Given the description of an element on the screen output the (x, y) to click on. 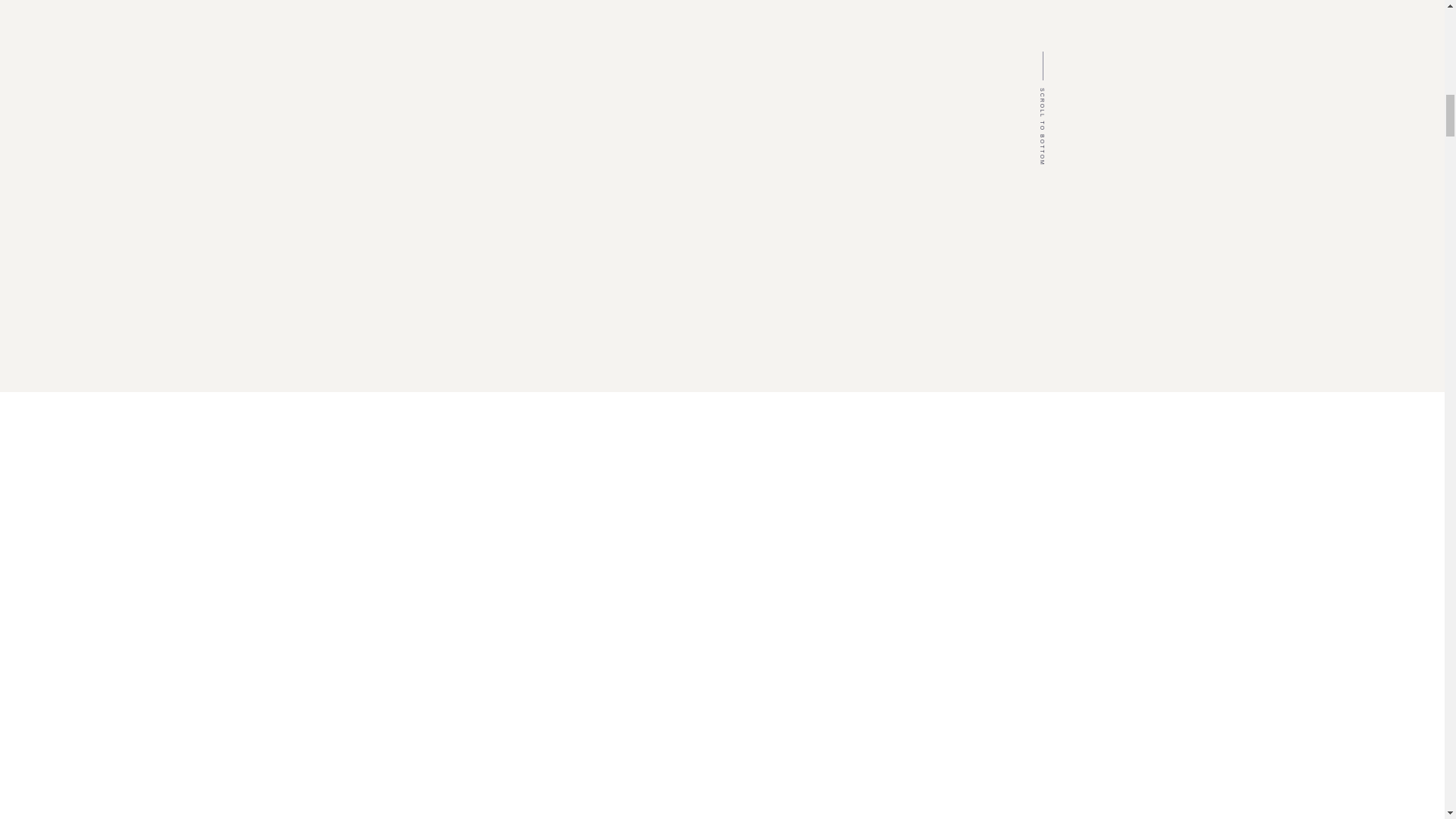
SCROLL TO BOTTOM (1077, 90)
SCROLL TO BOTTOM (1077, 90)
